Given the description of an element on the screen output the (x, y) to click on. 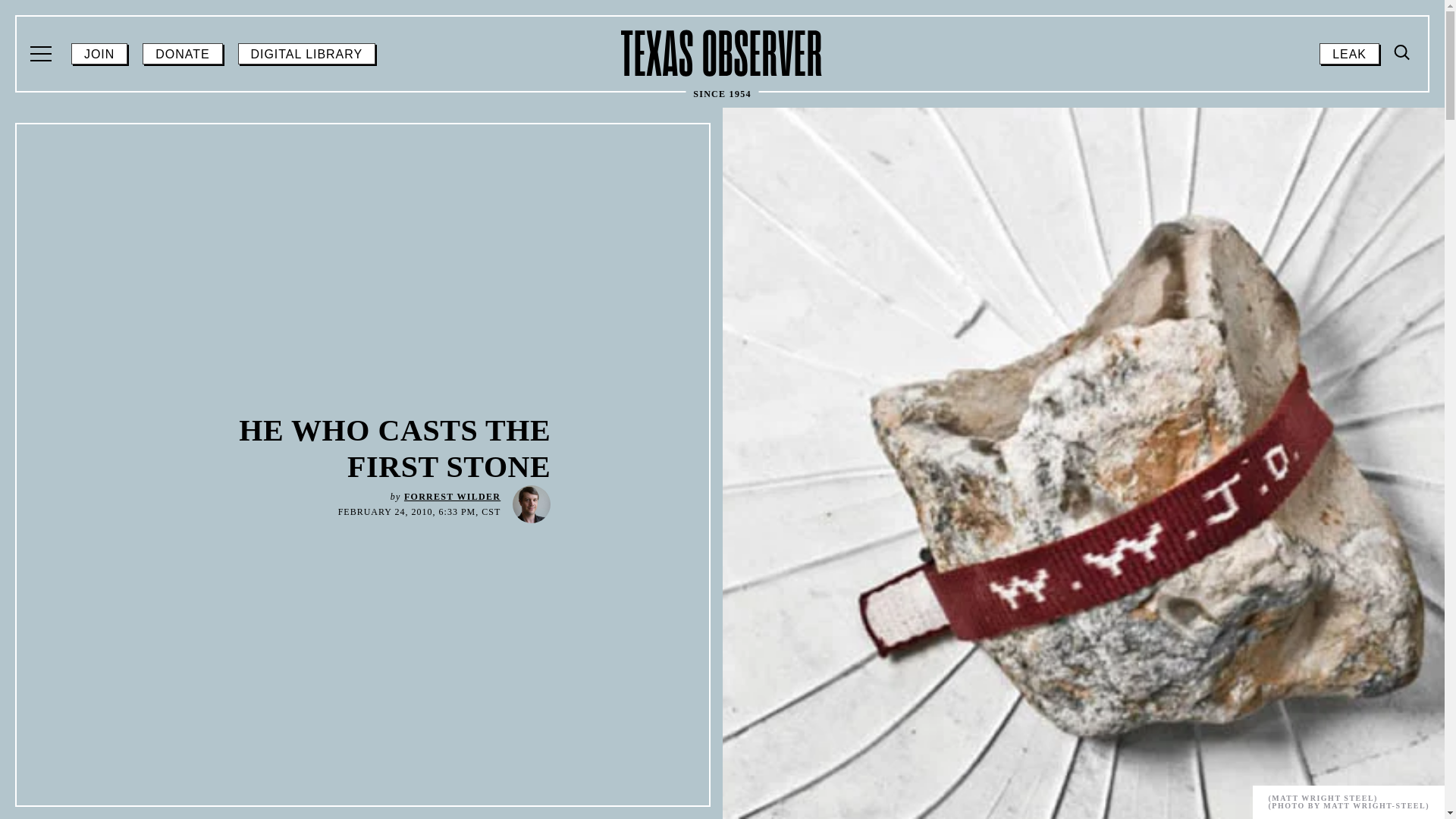
Search icon (1402, 51)
Toggle Menu (1402, 53)
Posts by Forrest Wilder (42, 53)
DONATE (452, 496)
LEAK (182, 53)
The Texas Observer (1348, 53)
JOIN (721, 53)
SEARCH (99, 53)
DIGITAL LIBRARY (1400, 179)
